Given the description of an element on the screen output the (x, y) to click on. 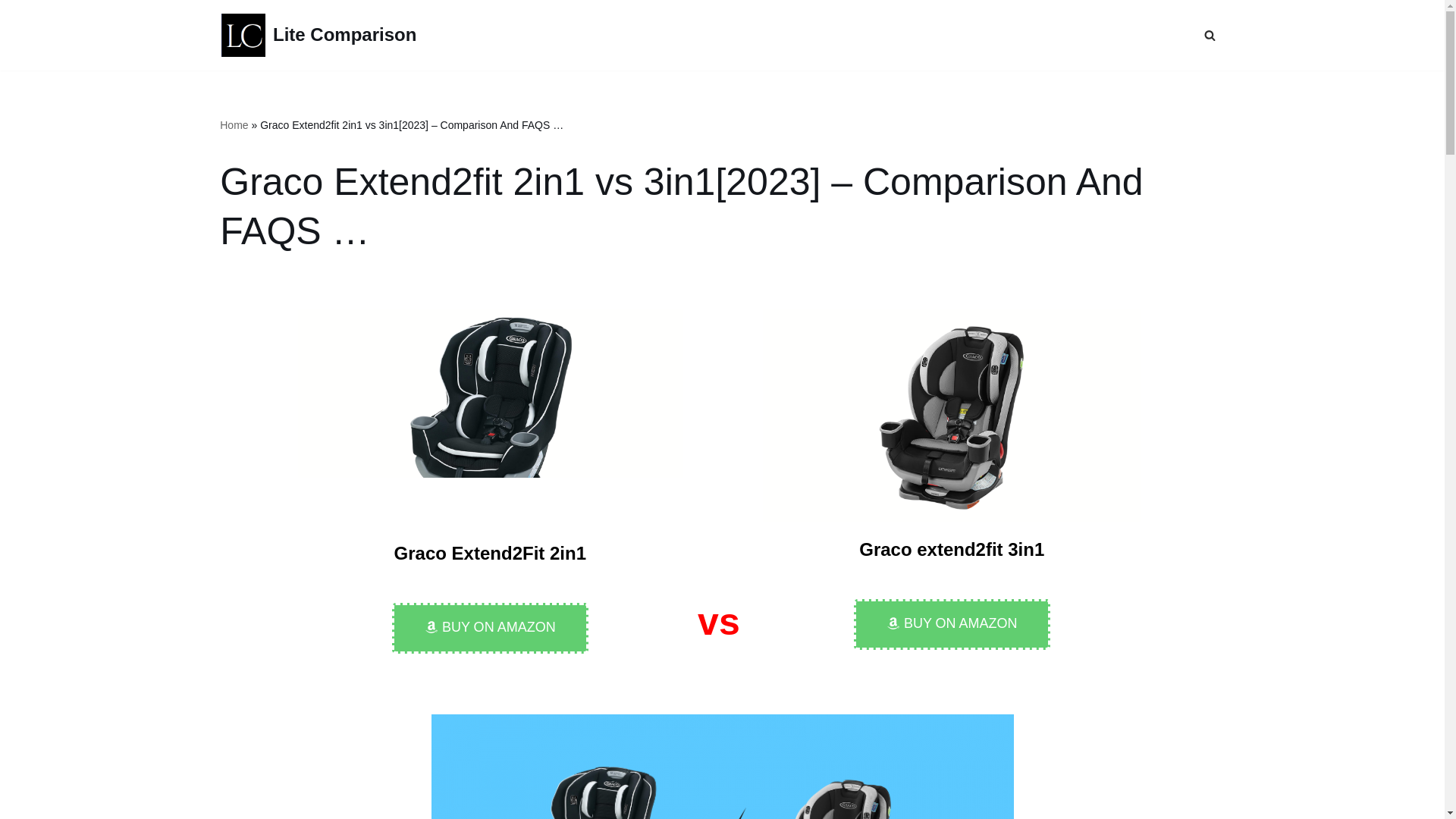
Home (233, 124)
Lite Comparison (318, 34)
BUY ON AMAZON (951, 624)
Skip to content (11, 31)
BUY ON AMAZON (489, 627)
